Given the description of an element on the screen output the (x, y) to click on. 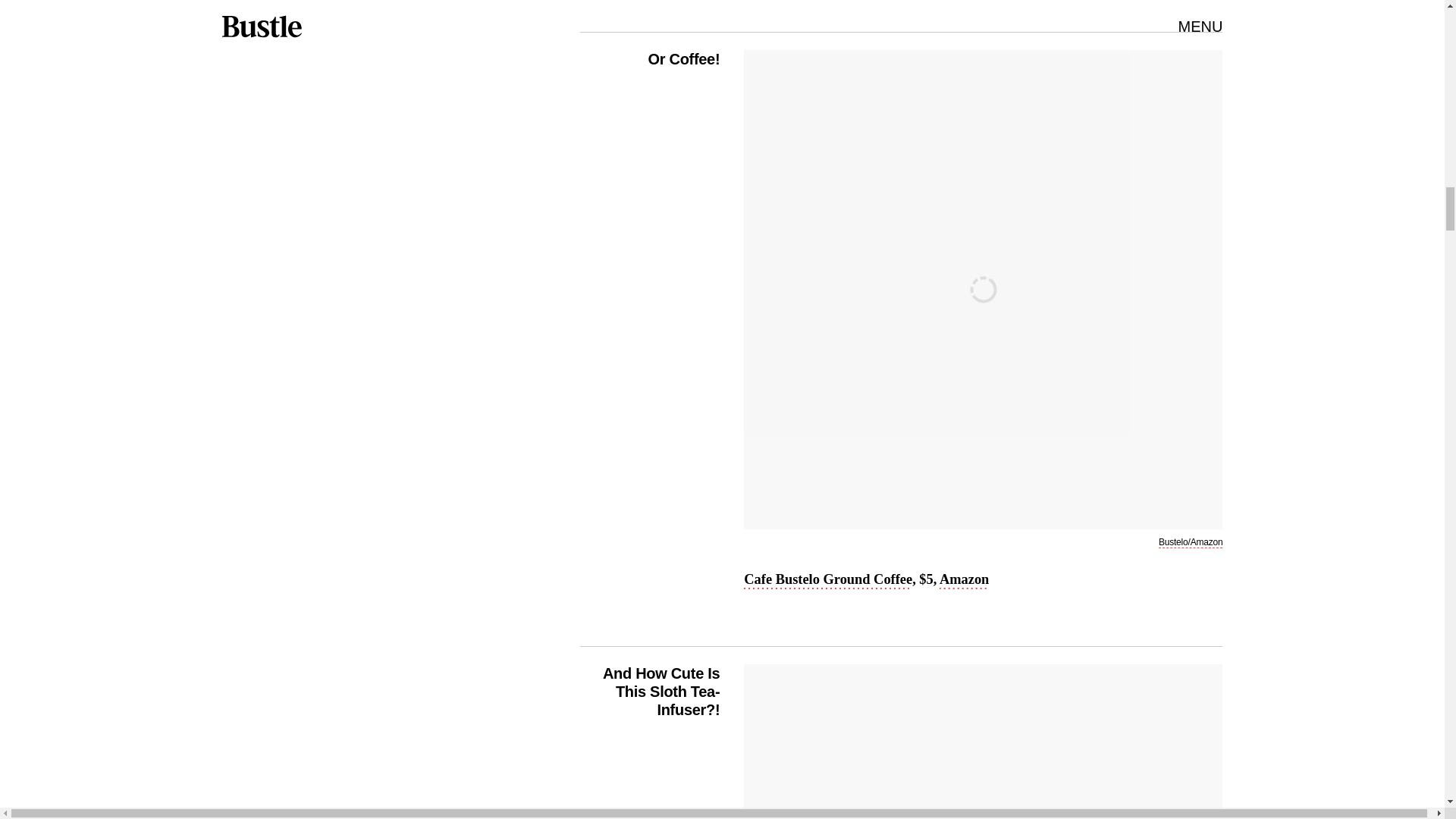
Cafe Bustelo Ground Coffee (828, 580)
Amazon (963, 580)
